Given the description of an element on the screen output the (x, y) to click on. 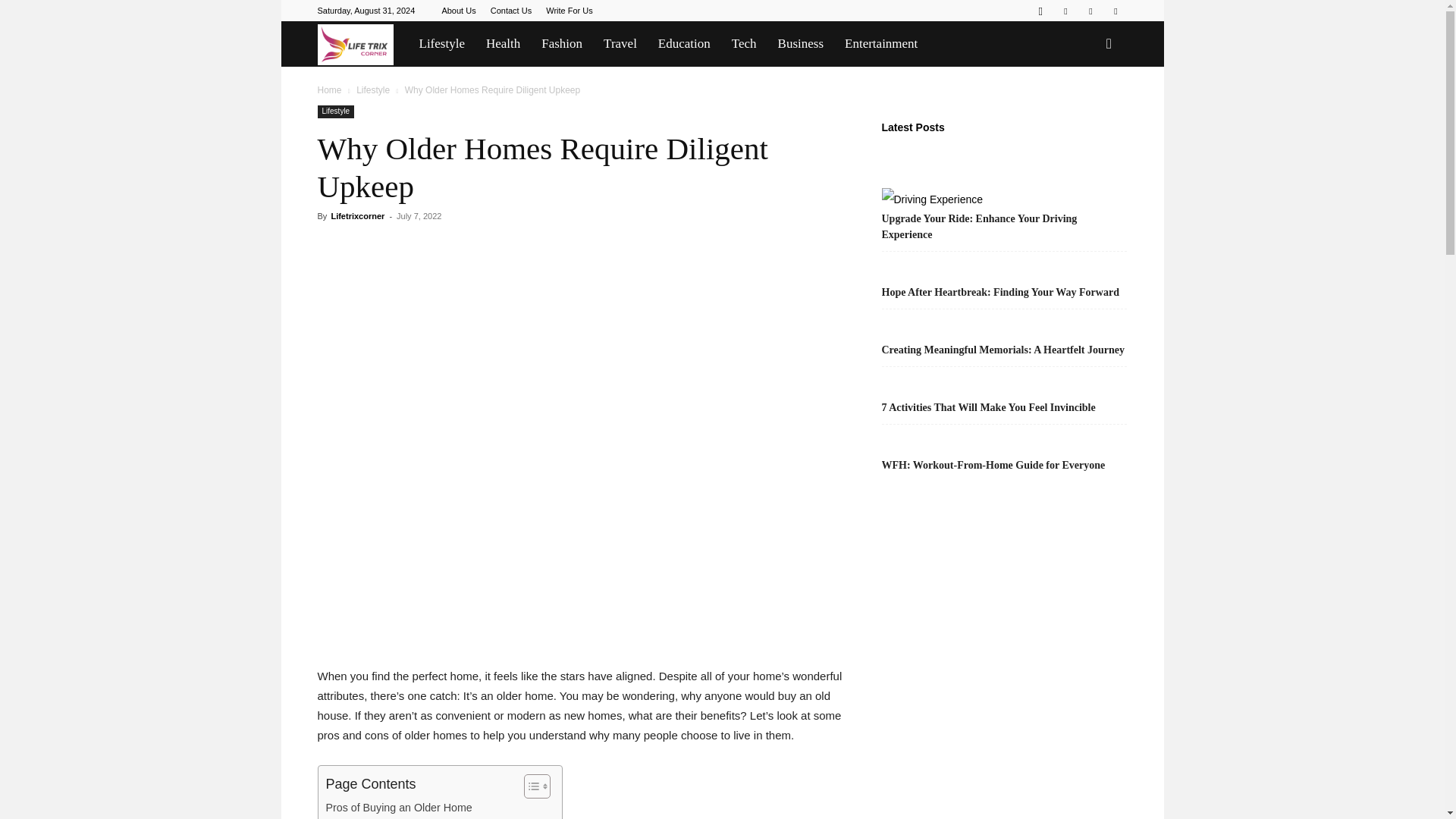
Instagram (1040, 10)
Youtube (1114, 10)
Contact Us (510, 10)
About Us (458, 10)
Lifetrixcorner (355, 44)
Write For Us (569, 10)
Pinterest (1065, 10)
Twitter (1090, 10)
